Given the description of an element on the screen output the (x, y) to click on. 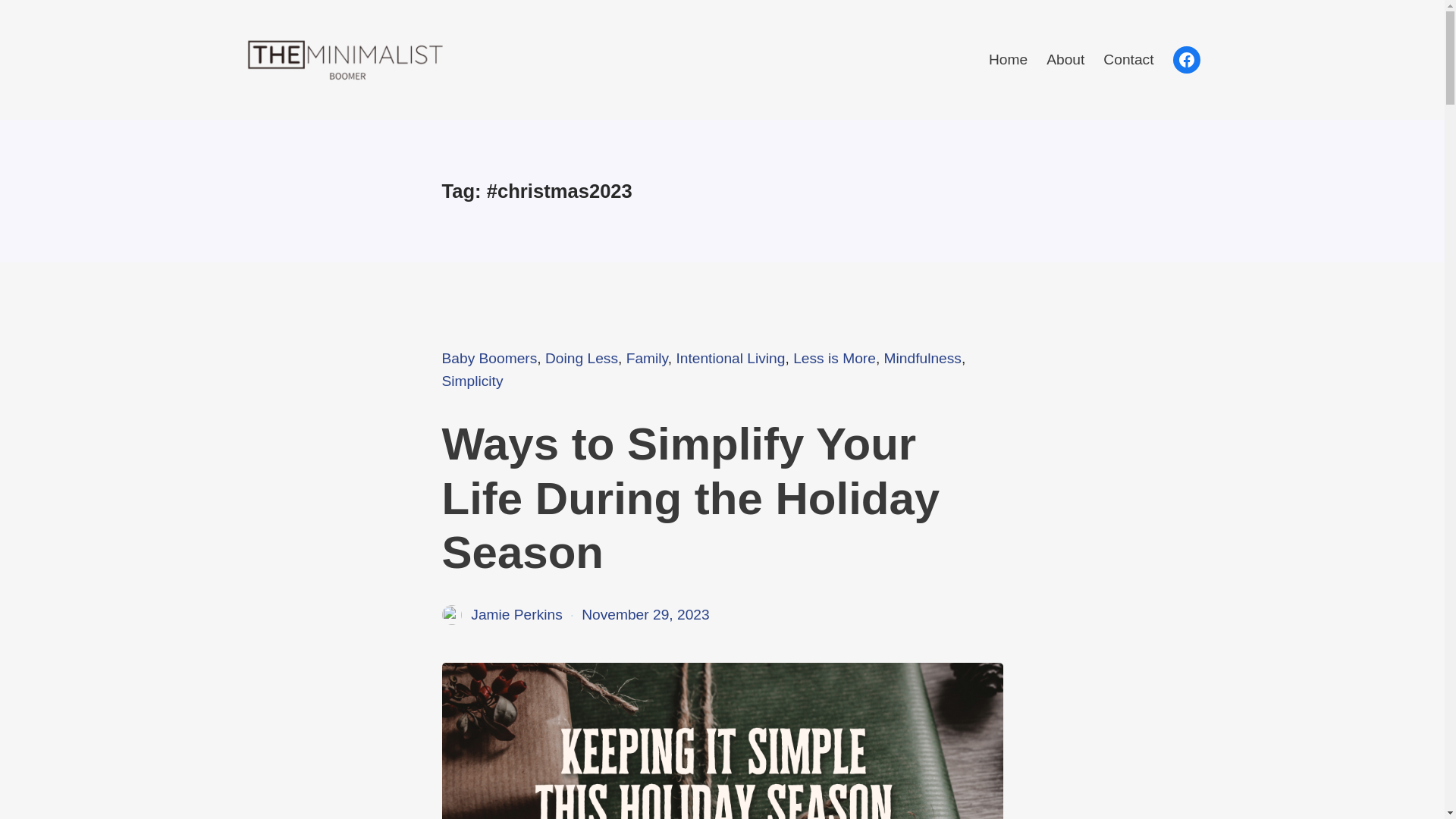
Mindfulness (921, 358)
Doing Less (580, 358)
Simplicity (471, 381)
Home (1007, 59)
Intentional Living (729, 358)
Facebook (1185, 59)
About (1065, 59)
Family (647, 358)
Contact (1128, 59)
Less is More (834, 358)
